Given the description of an element on the screen output the (x, y) to click on. 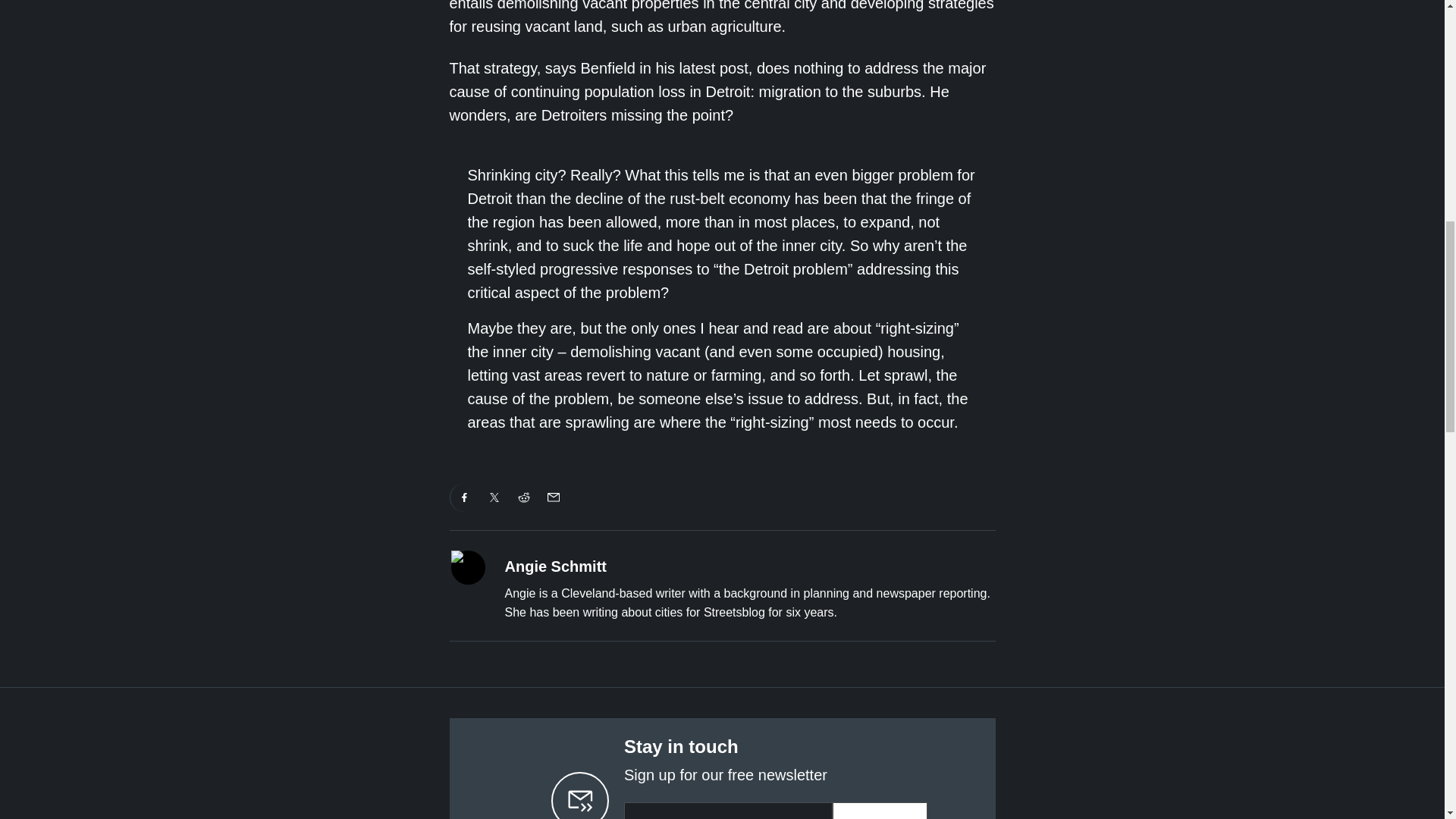
Share on Email (552, 497)
Angie Schmitt (556, 566)
SIGN UP (879, 810)
Share on Reddit (523, 497)
Share on Facebook (464, 497)
